Given the description of an element on the screen output the (x, y) to click on. 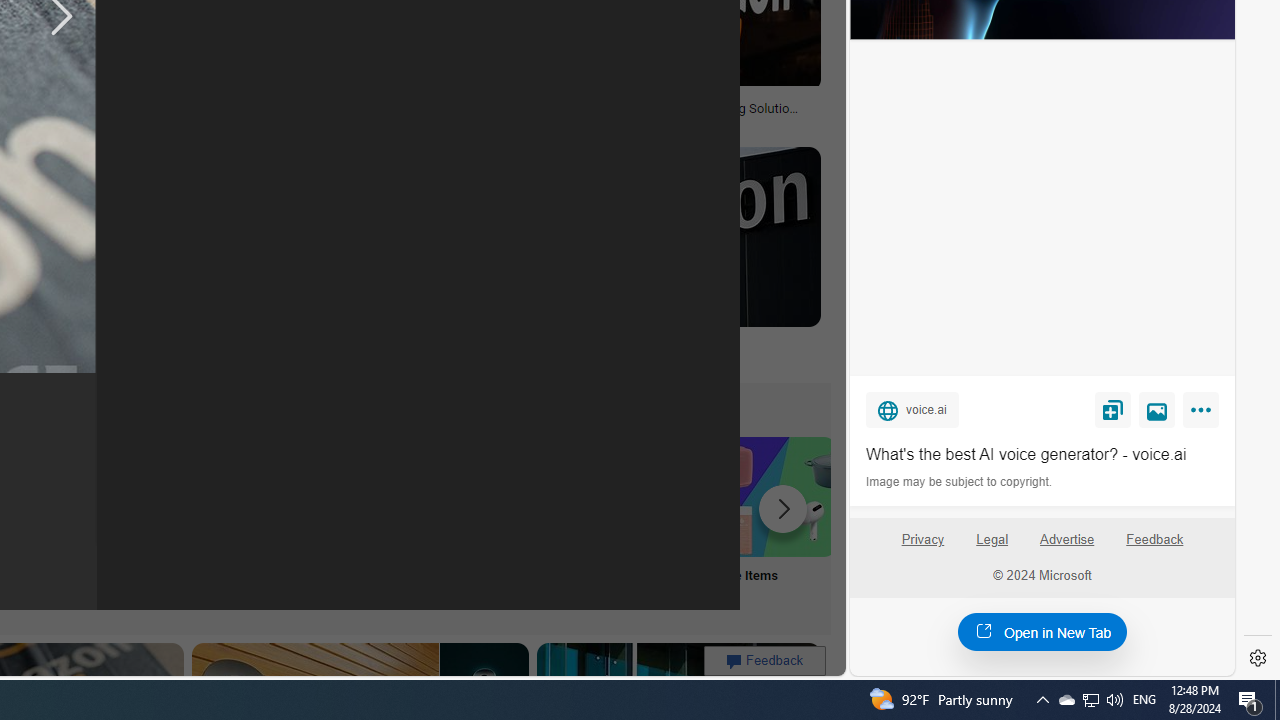
Visa Card Login (643, 521)
Open in New Tab (1042, 631)
Amazon Prime Shopping Online Prime Shopping Online (380, 521)
Image result for amazon (662, 236)
Save (1112, 409)
voice.ai (912, 409)
Sale Items (775, 521)
Mini TV (116, 521)
protothema.gr (662, 359)
Feedback (1154, 547)
Amazon (662, 343)
Advertise (1067, 547)
Feedback (1155, 539)
